Given the description of an element on the screen output the (x, y) to click on. 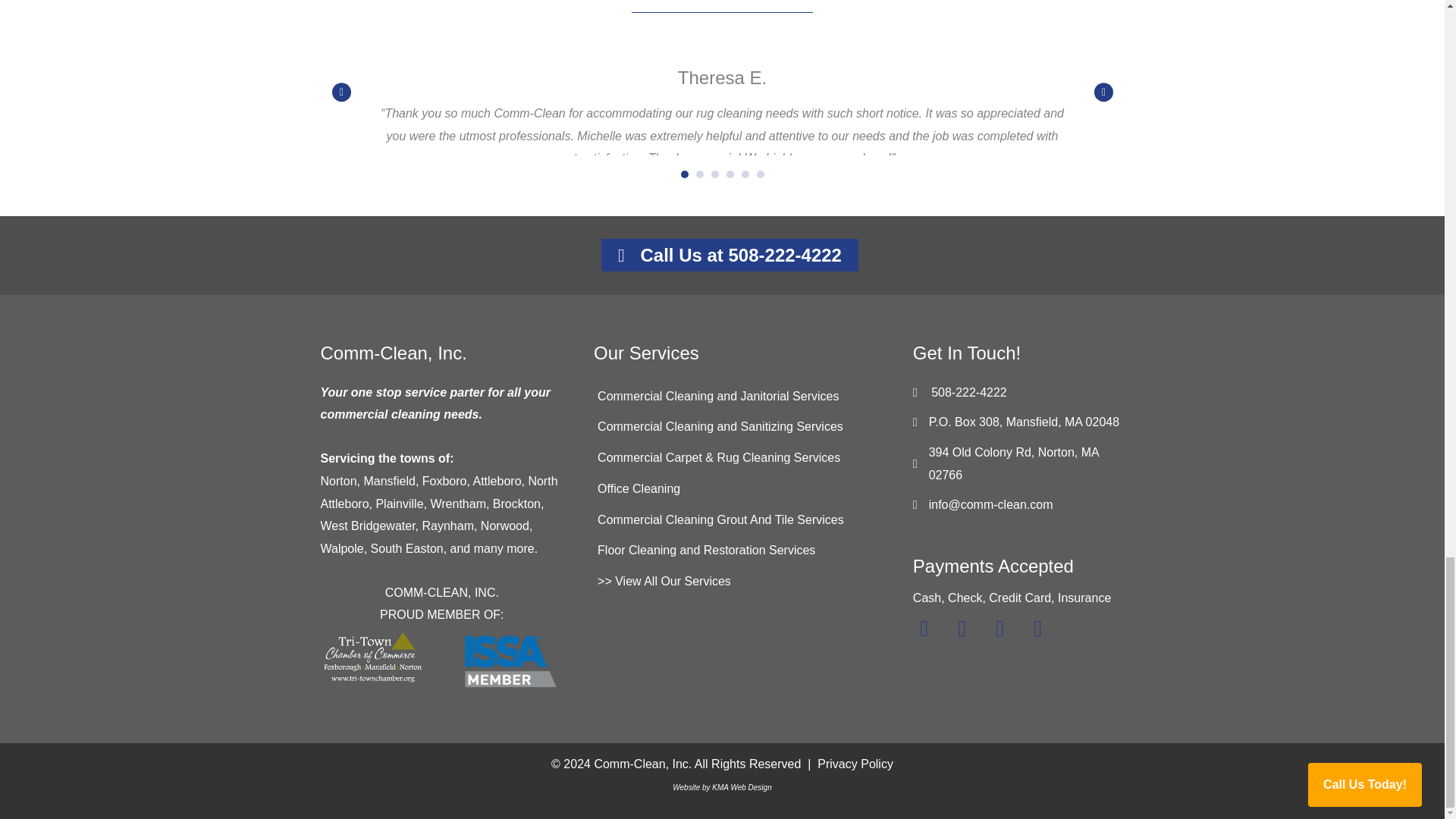
tri-town-chamber-of-commerce-member (373, 656)
